Given the description of an element on the screen output the (x, y) to click on. 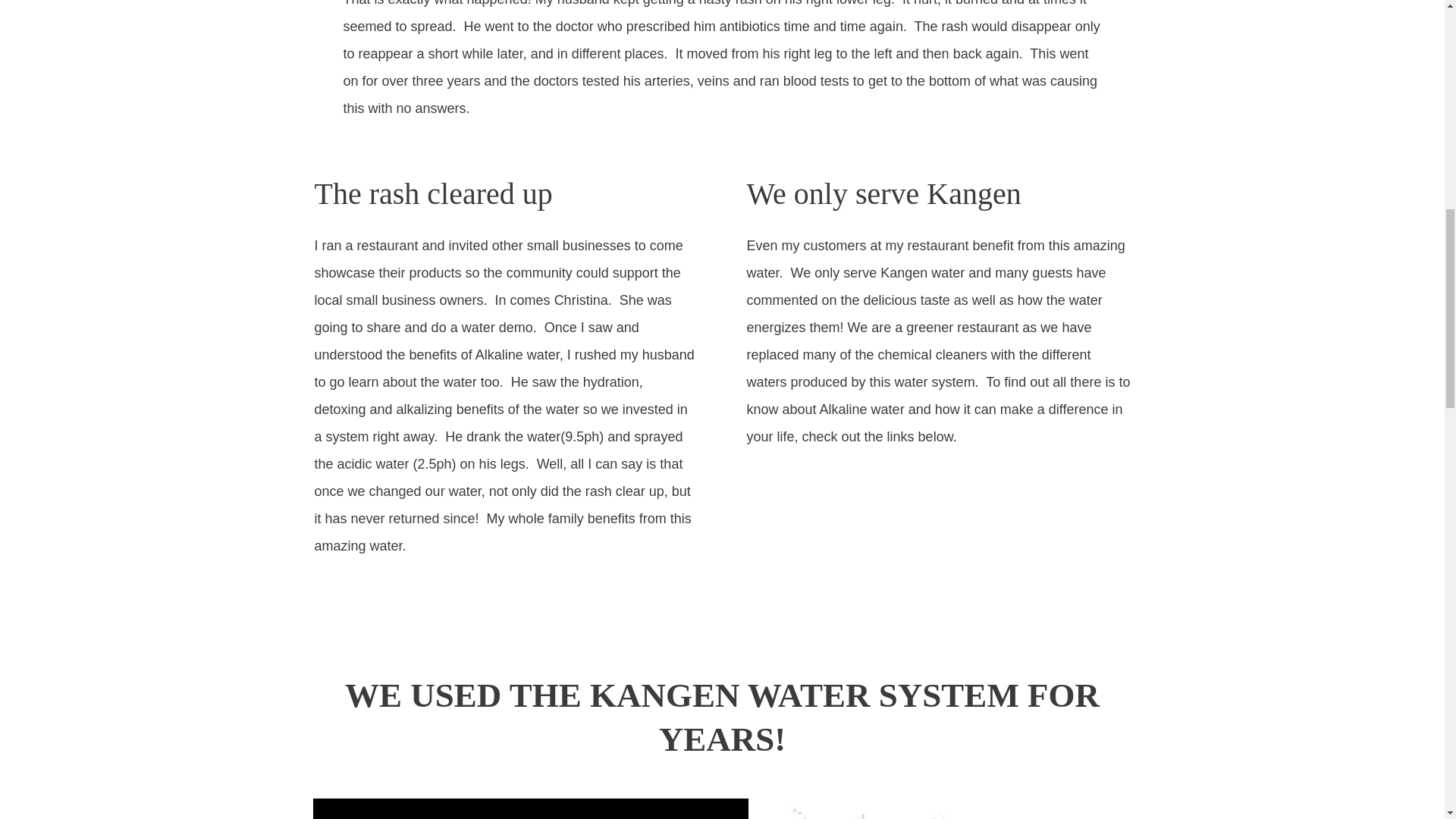
Responsive Video (531, 809)
